Given the description of an element on the screen output the (x, y) to click on. 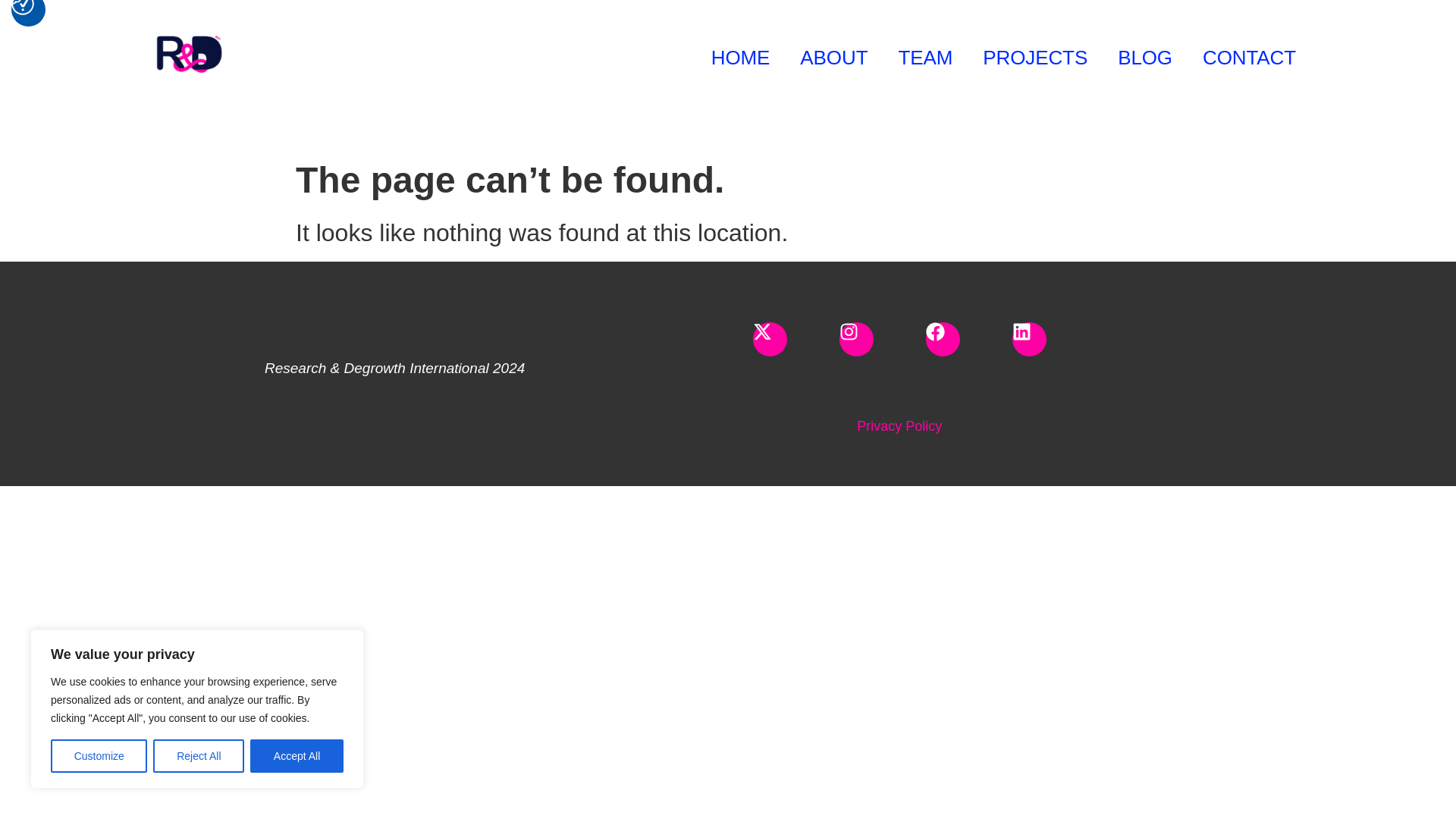
BLOG (1145, 56)
PROJECTS (1035, 56)
TEAM (925, 56)
HOME (740, 56)
CONTACT (1249, 56)
Donate here! (542, 76)
ABOUT (833, 56)
